Given the description of an element on the screen output the (x, y) to click on. 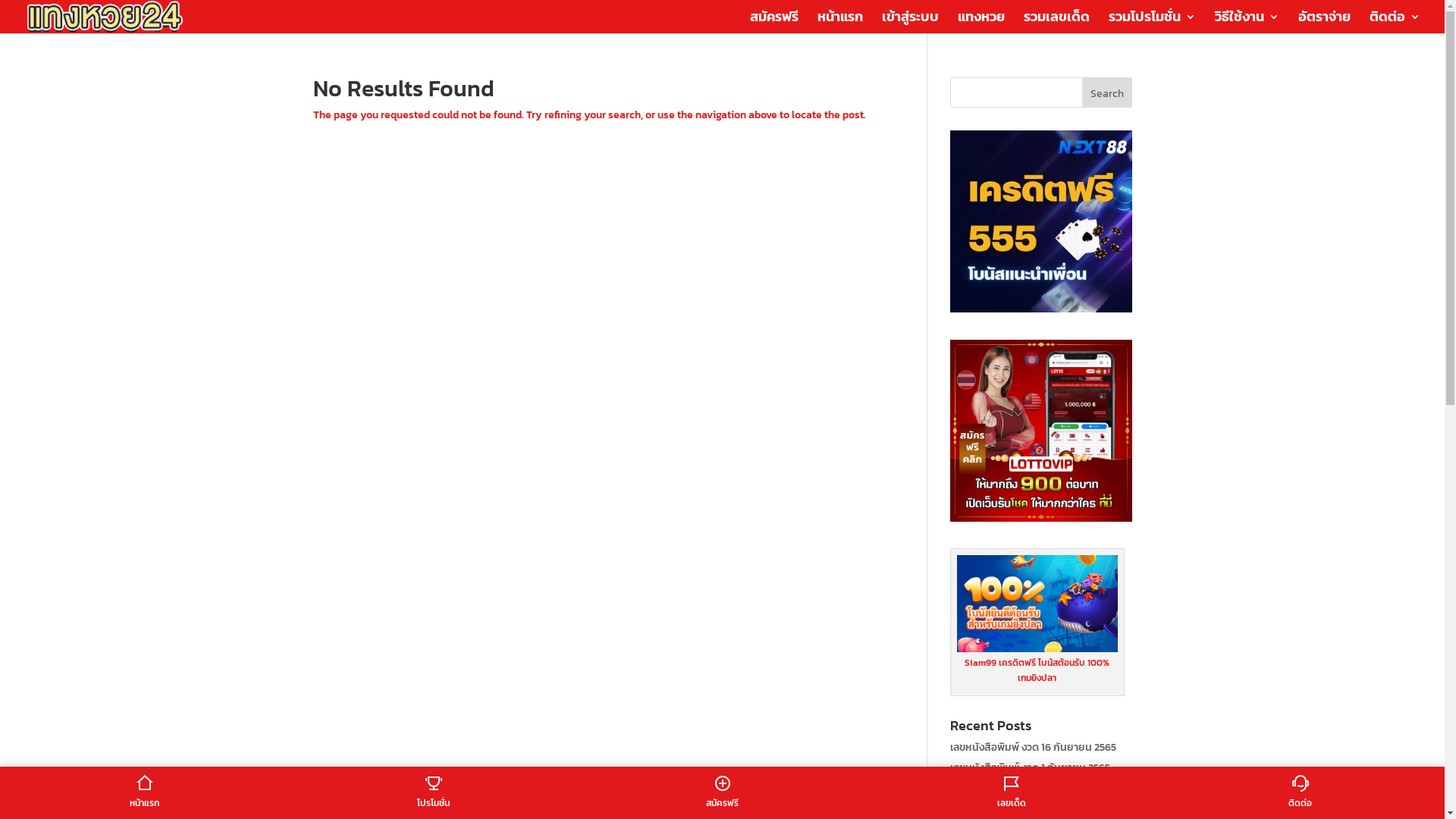
Search Element type: text (1107, 92)
